Given the description of an element on the screen output the (x, y) to click on. 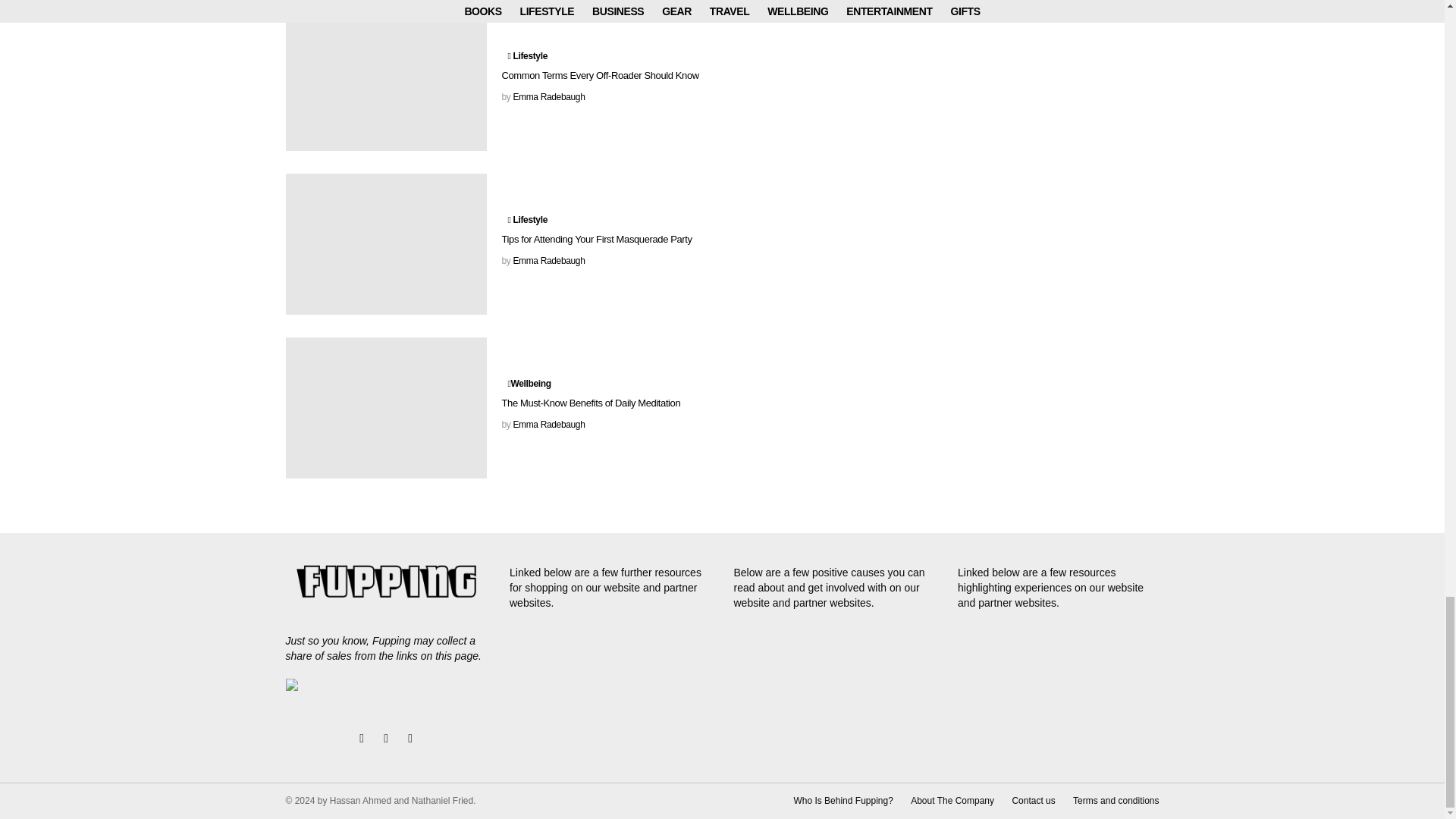
Posts by Emma Radebaugh (548, 260)
Common Terms Every Off-Roader Should Know (385, 79)
Posts by Emma Radebaugh (548, 96)
Tips for Attending Your First Masquerade Party (385, 243)
Posts by Emma Radebaugh (548, 424)
The Must-Know Benefits of Daily Meditation (385, 407)
